Given the description of an element on the screen output the (x, y) to click on. 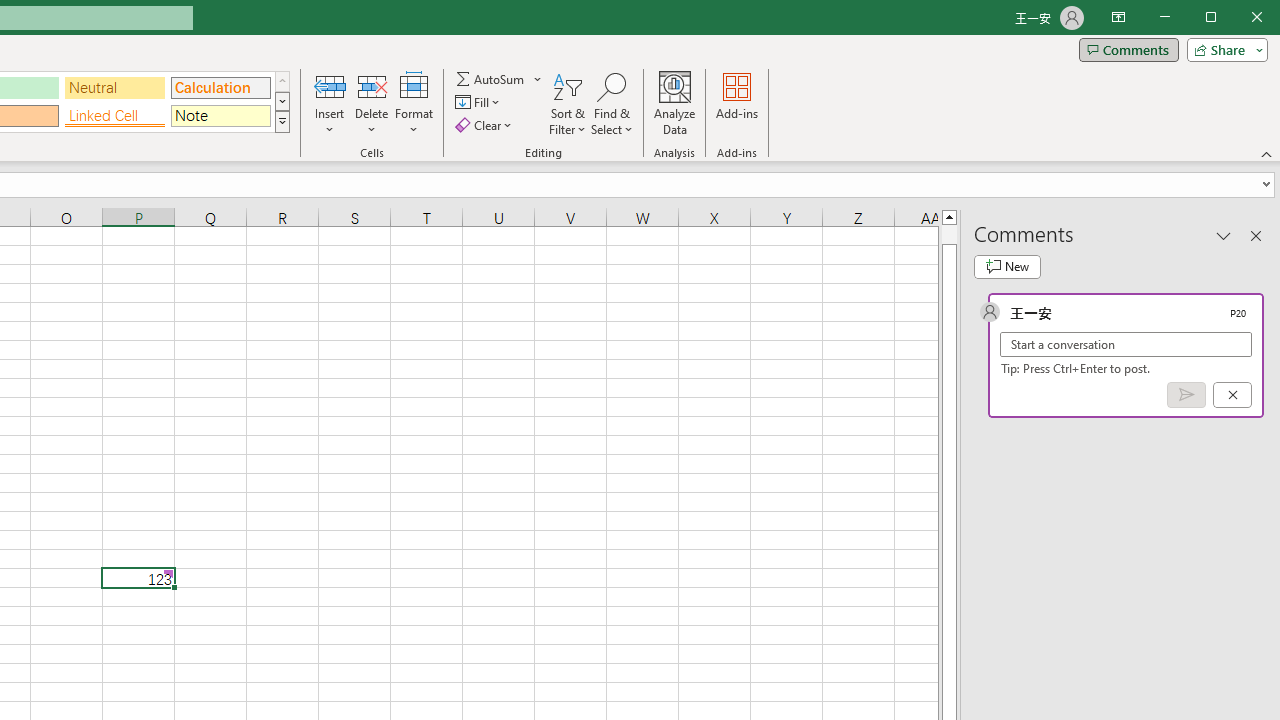
Page up (948, 234)
Task Pane Options (1224, 235)
Close pane (1256, 235)
Object... (213, 104)
Signature Line (164, 86)
Equation (275, 86)
New comment (1007, 266)
Start a conversation (1126, 344)
Symbol... (324, 104)
Collapse the Ribbon (1267, 154)
Maximize (1239, 18)
